Given the description of an element on the screen output the (x, y) to click on. 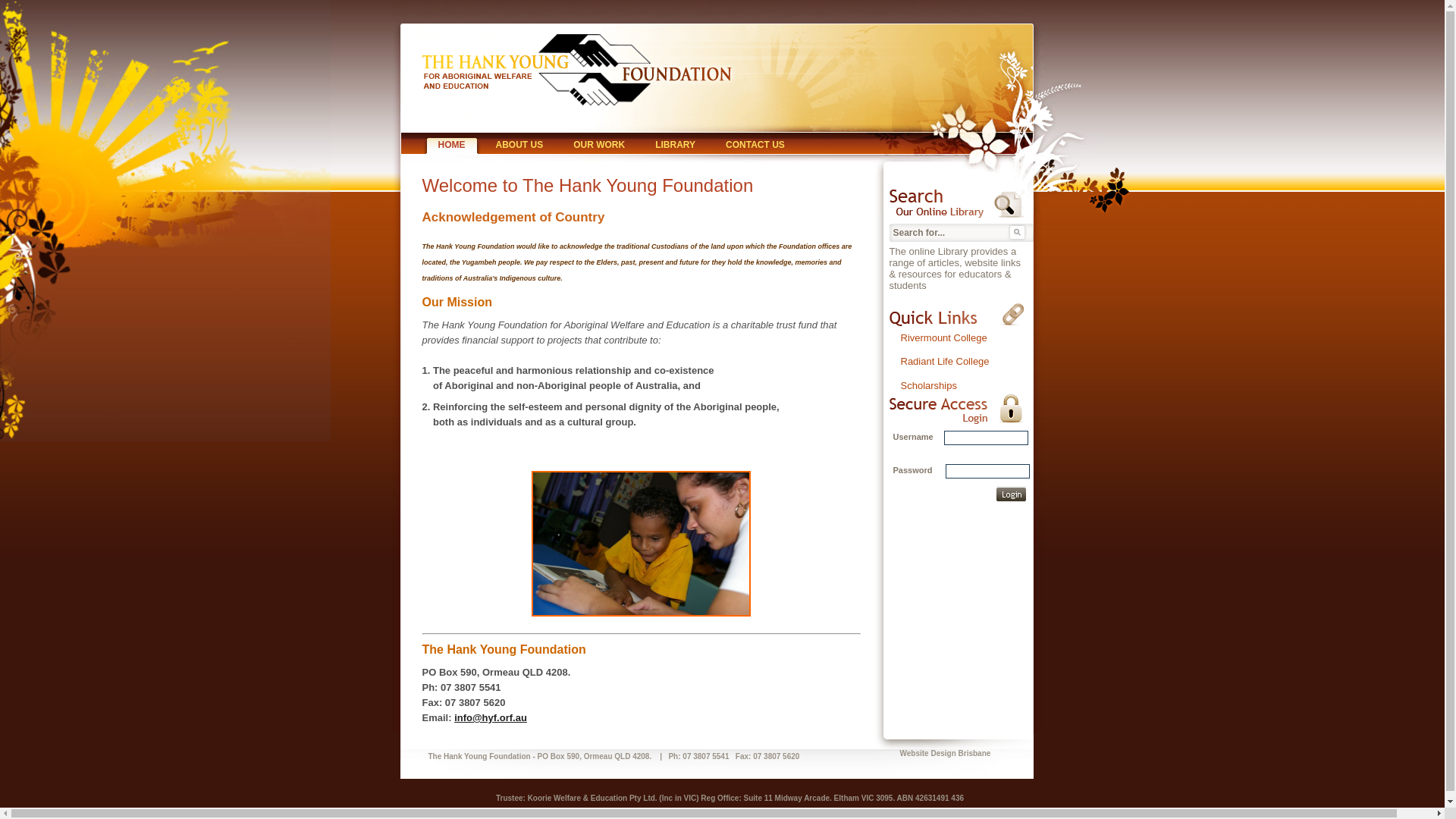
CONTACT US Element type: text (755, 144)
ABOUT US Element type: text (519, 144)
Rivermount College Element type: text (943, 337)
Radiant Life College Element type: text (944, 361)
OUR WORK Element type: text (599, 144)
HOME Element type: text (451, 144)
info@hyf.orf.au Element type: text (490, 717)
Scholarships Element type: text (928, 385)
LIBRARY Element type: text (675, 144)
Website Design Brisbane Element type: text (944, 753)
